Given the description of an element on the screen output the (x, y) to click on. 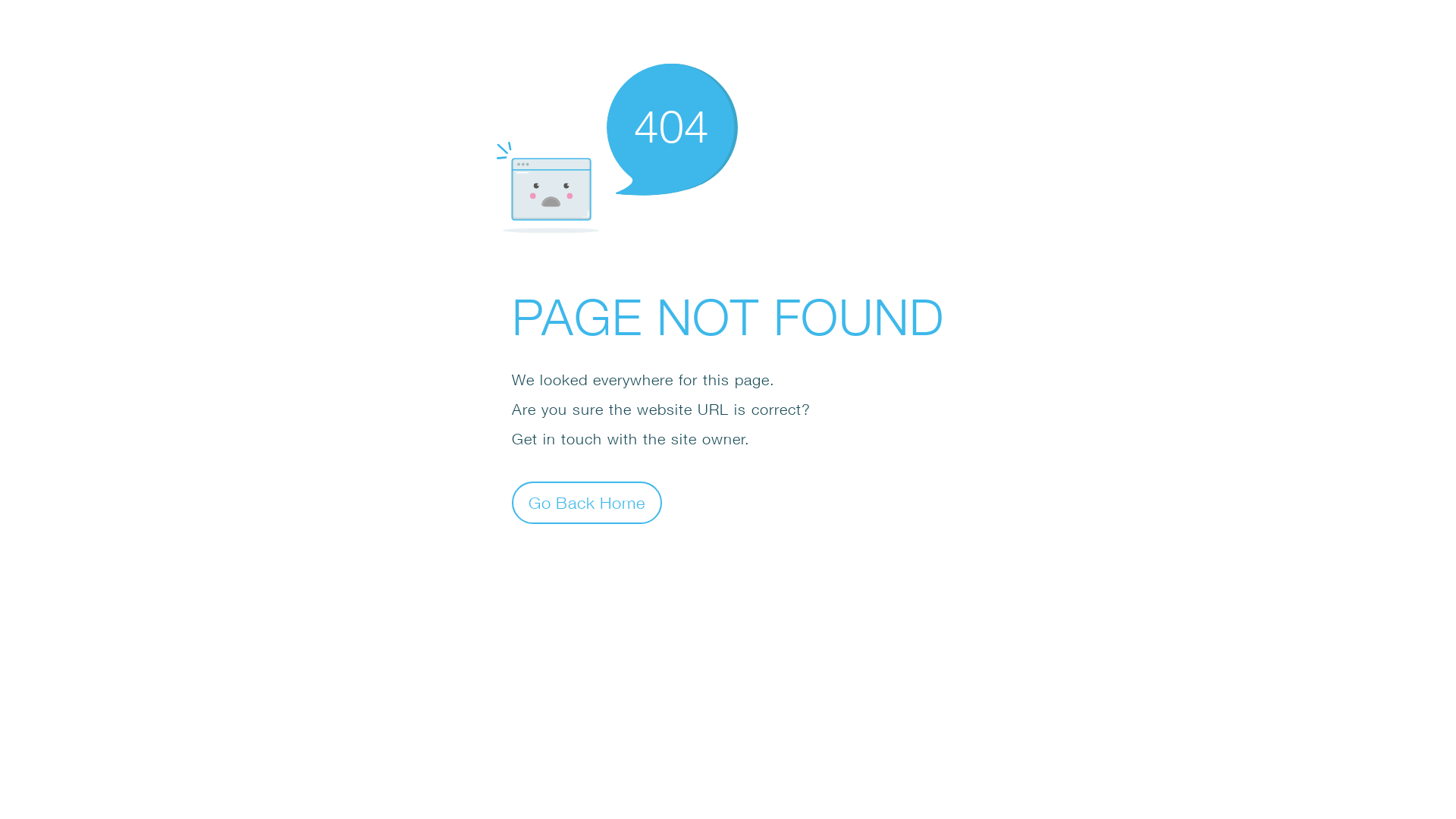
Go Back Home Element type: text (586, 502)
